Given the description of an element on the screen output the (x, y) to click on. 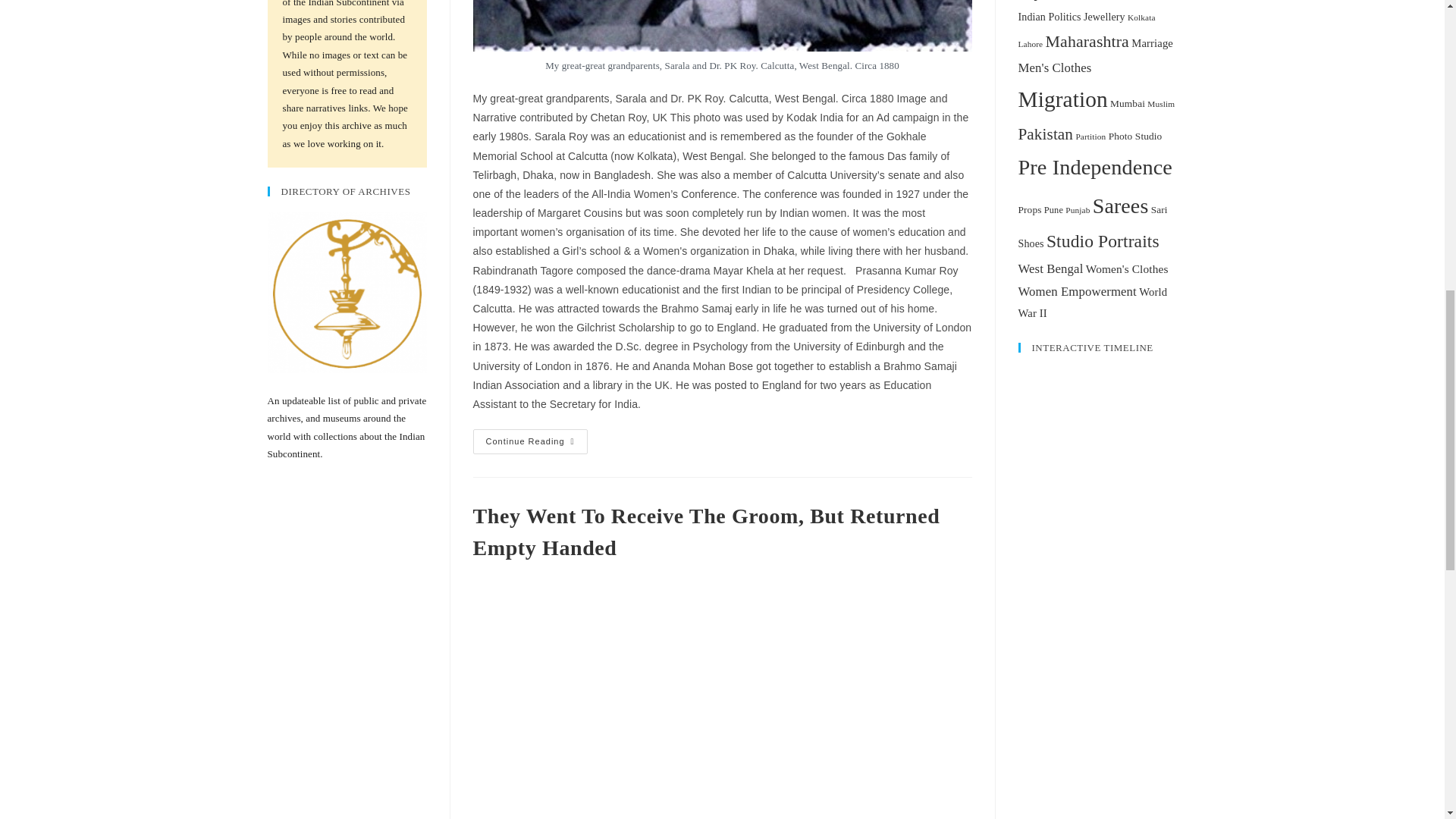
They Went To Receive The Groom, But Returned Empty Handed (706, 531)
INTERACTIVE TIMELINE (1096, 448)
